Given the description of an element on the screen output the (x, y) to click on. 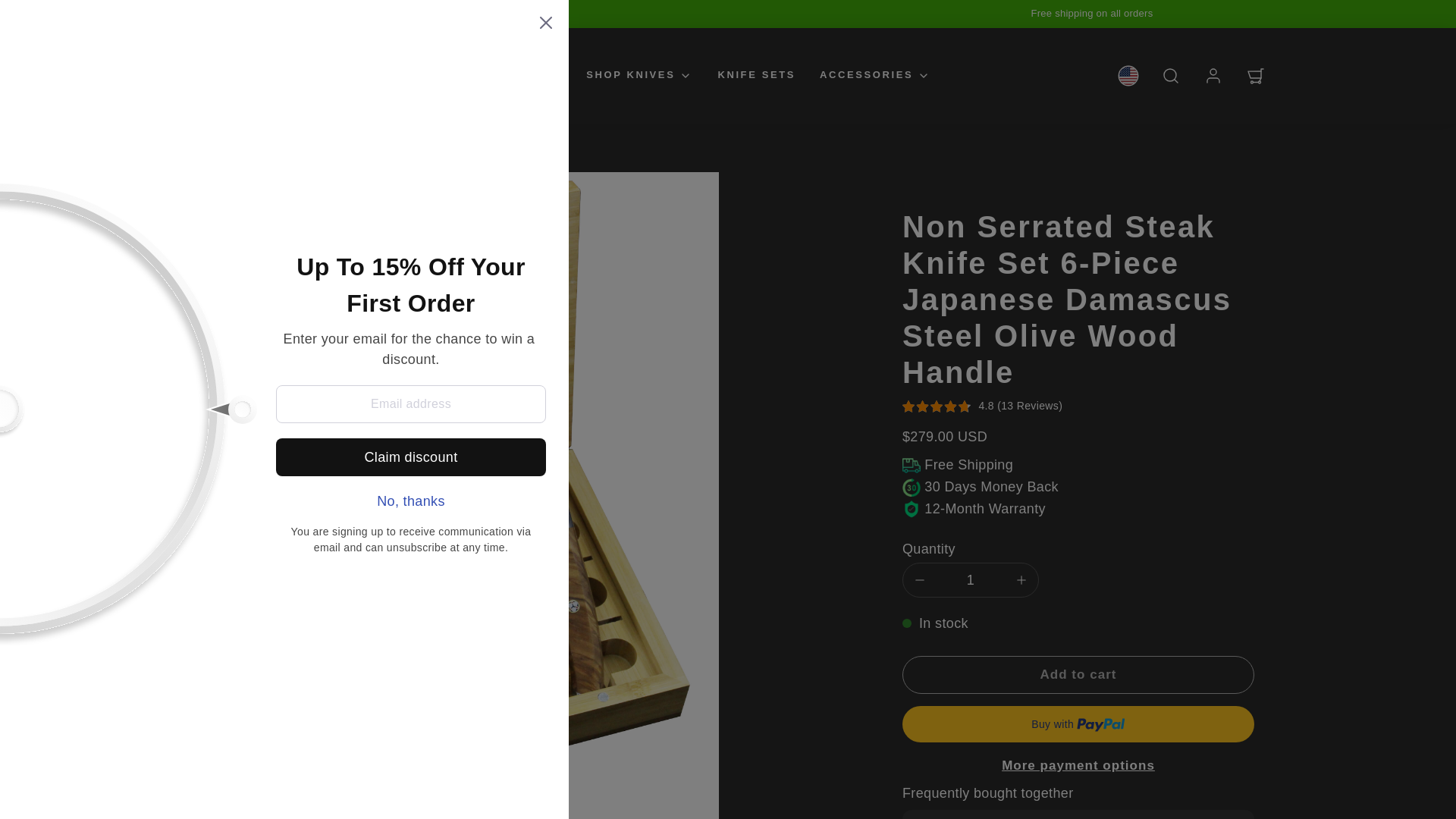
KNIFE SETS (756, 75)
ACCESSORIES (875, 75)
MENU (200, 75)
1 (970, 580)
ACCOUNT (1213, 75)
SEARCH (1171, 75)
HOME (542, 75)
SHOP KNIVES (638, 75)
